Given the description of an element on the screen output the (x, y) to click on. 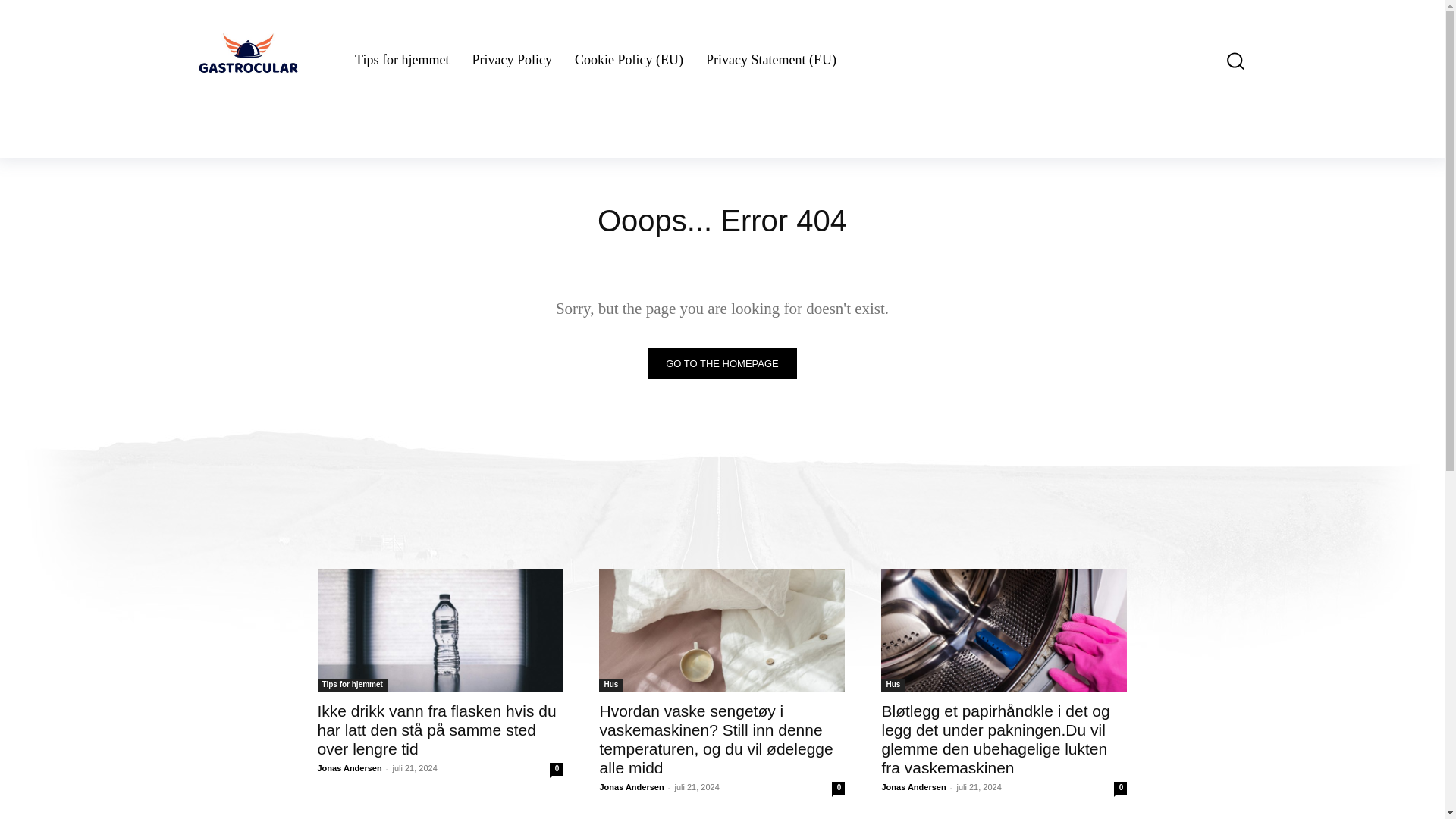
Privacy Policy (511, 60)
GO TO THE HOMEPAGE (721, 363)
Hus (610, 684)
Tips for hjemmet (352, 684)
Go to the homepage (721, 363)
Jonas Andersen (349, 768)
Tips for hjemmet (402, 60)
0 (556, 768)
